Given the description of an element on the screen output the (x, y) to click on. 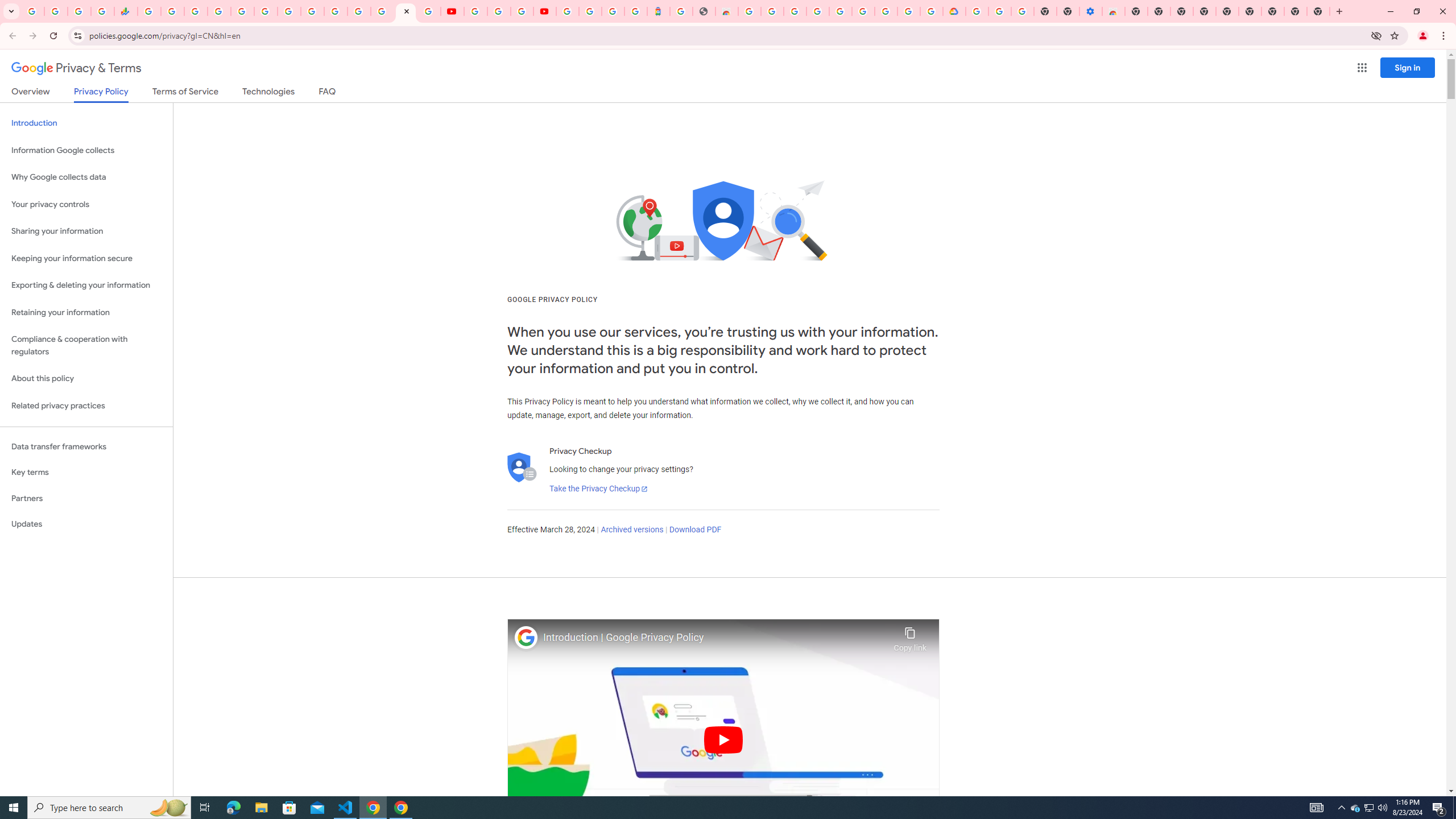
Why Google collects data (86, 176)
Privacy Checkup (428, 11)
Atour Hotel - Google hotels (658, 11)
Copy link (909, 636)
YouTube (451, 11)
Introduction | Google Privacy Policy (715, 637)
Download PDF (695, 529)
Create your Google Account (909, 11)
Android TV Policies and Guidelines - Transparency Center (288, 11)
Related privacy practices (86, 405)
